Given the description of an element on the screen output the (x, y) to click on. 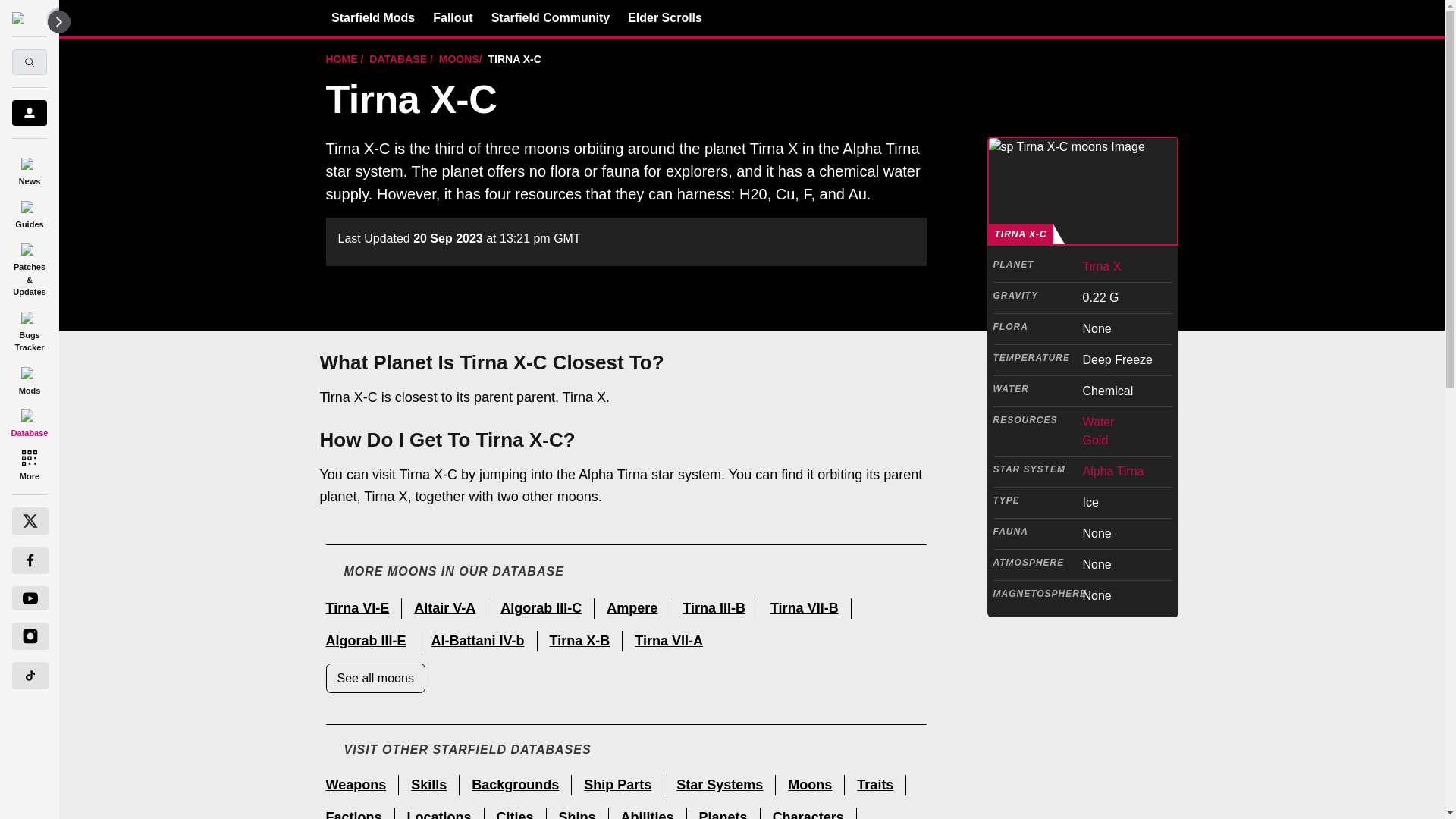
Starfield Community (551, 18)
Fallout (451, 18)
Mods (28, 377)
Starfield Mods (372, 18)
News (28, 169)
Elder Scrolls (664, 18)
Database (28, 420)
Guides (28, 212)
